Given the description of an element on the screen output the (x, y) to click on. 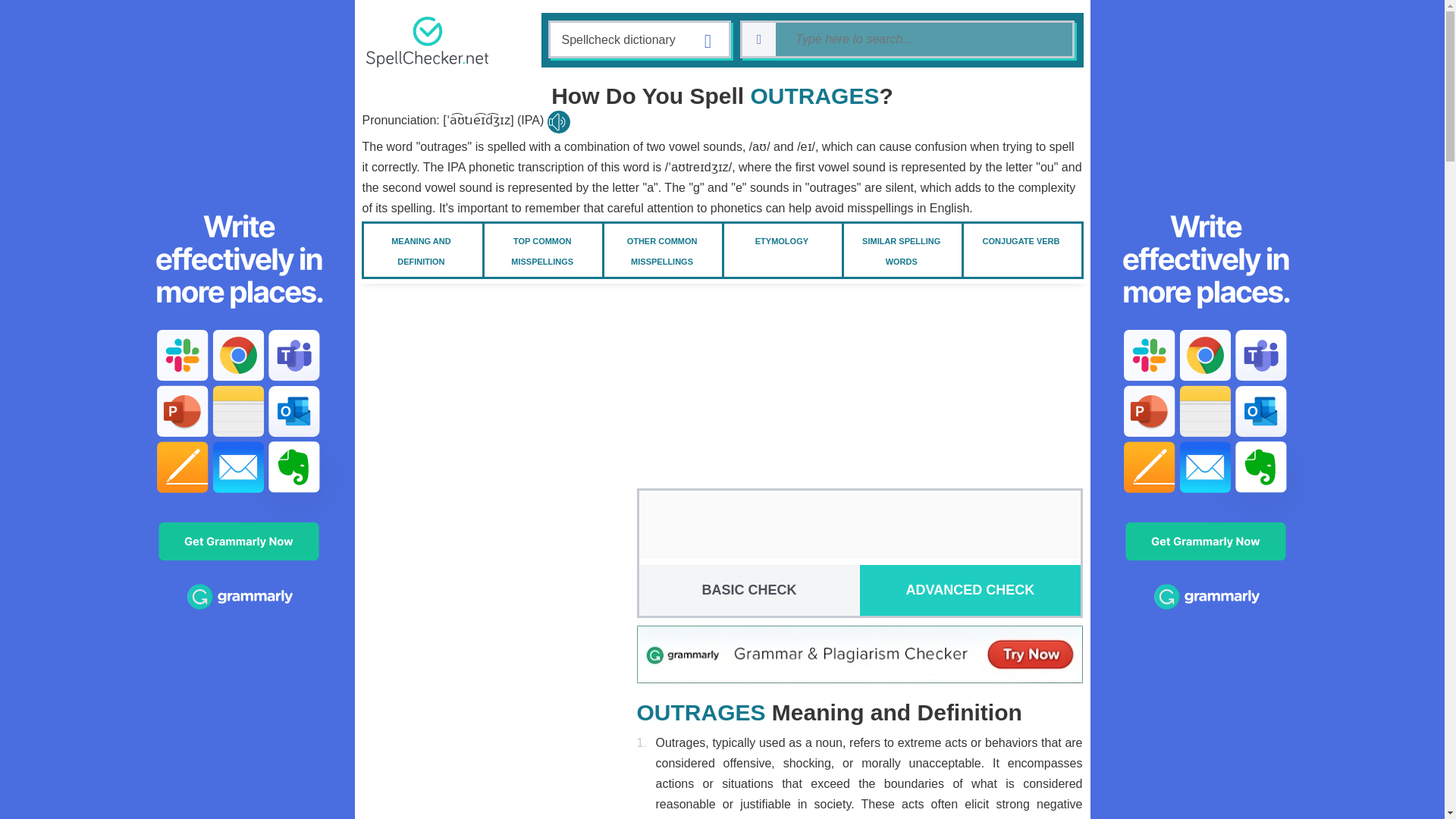
CONJUGATE VERB (1020, 239)
SIMILAR SPELLING WORDS (900, 249)
ETYMOLOGY (781, 239)
SpellChecker.net (426, 41)
OTHER COMMON MISSPELLINGS (662, 249)
TOP COMMON MISSPELLINGS (542, 249)
MEANING AND DEFINITION (420, 249)
ADVANCED CHECK (970, 590)
OTHER COMMON MISSPELLINGS (662, 249)
BASIC CHECK (749, 590)
